Given the description of an element on the screen output the (x, y) to click on. 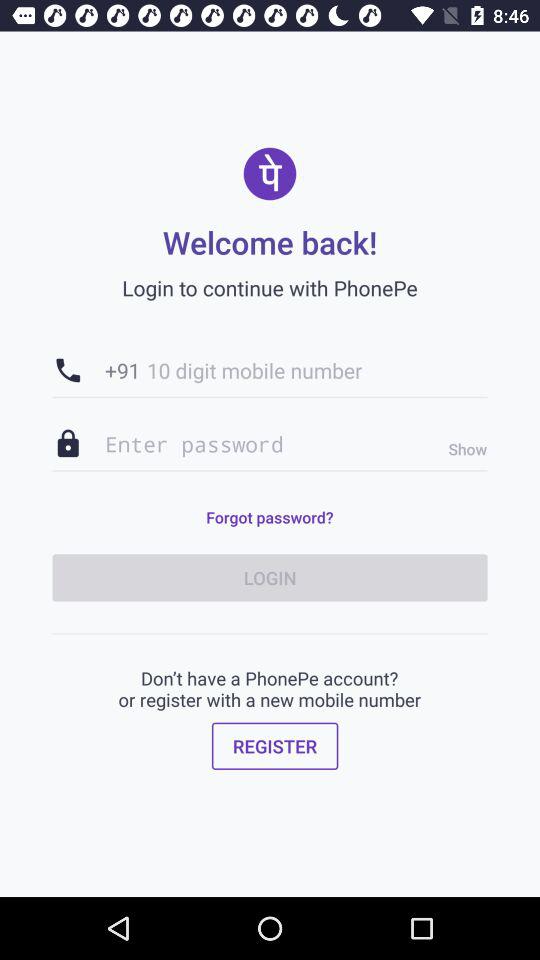
select the icon above login icon (269, 517)
